Given the description of an element on the screen output the (x, y) to click on. 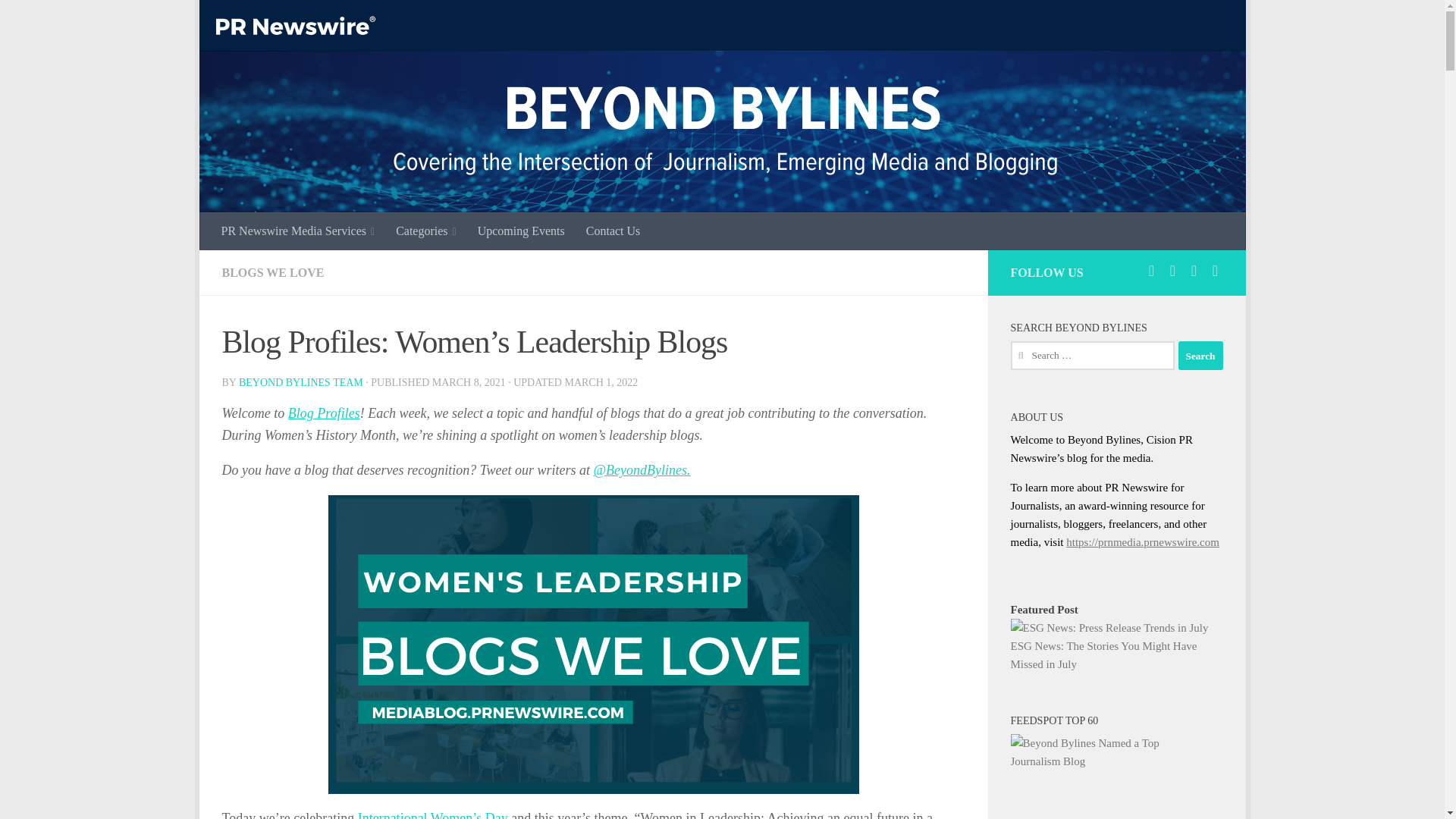
Search (1200, 355)
Follow us on Twitter (1150, 270)
Posts by Beyond Bylines Team (300, 382)
Search (1200, 355)
Upcoming Events (521, 231)
Categories (426, 231)
Contact Us (612, 231)
Skip to content (258, 20)
Blog Profiles (323, 412)
BLOGS WE LOVE (272, 272)
